Given the description of an element on the screen output the (x, y) to click on. 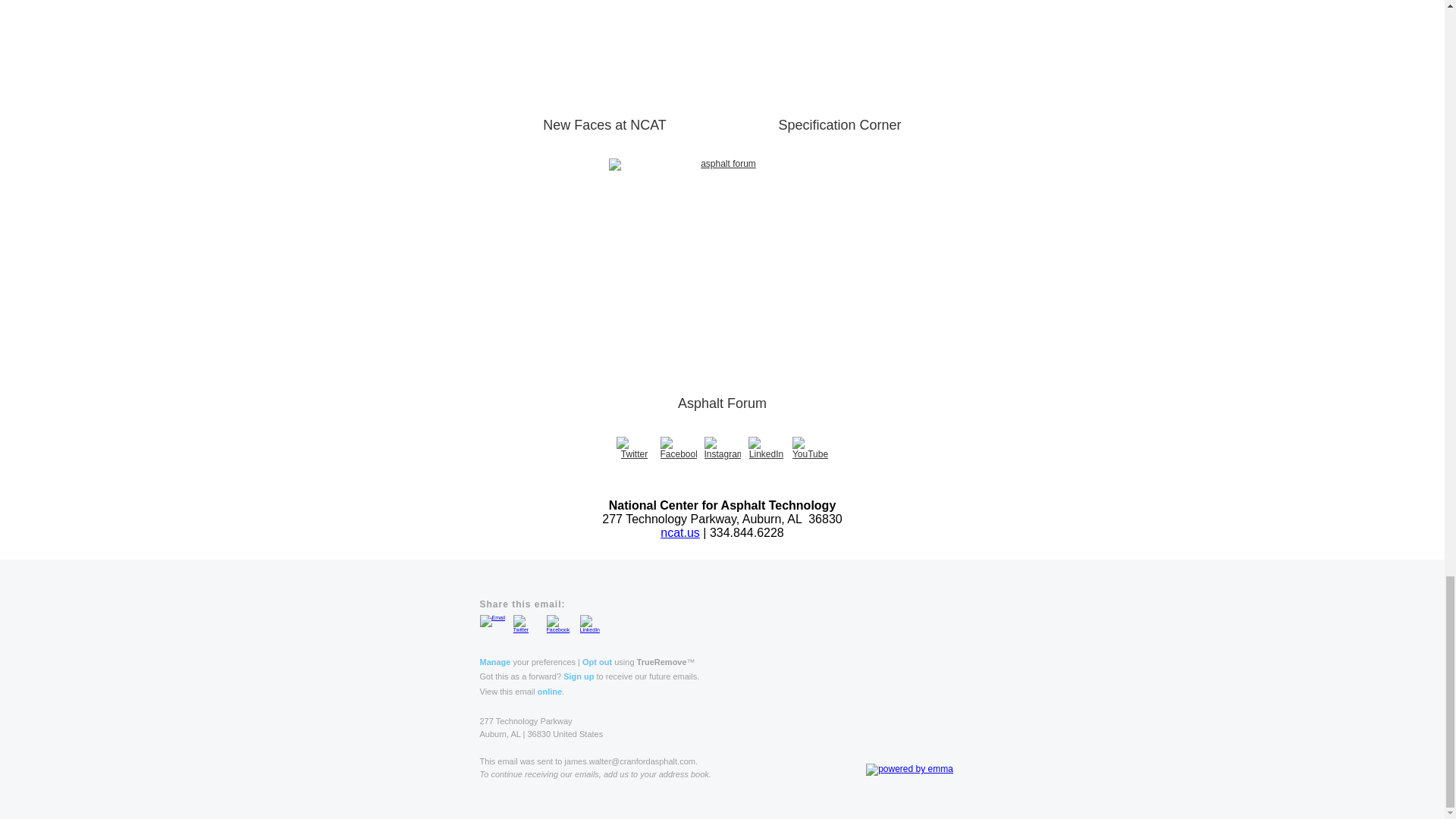
ncat.us (680, 532)
online (549, 691)
Manage (495, 661)
Sign up (578, 675)
Opt out (596, 661)
